Given the description of an element on the screen output the (x, y) to click on. 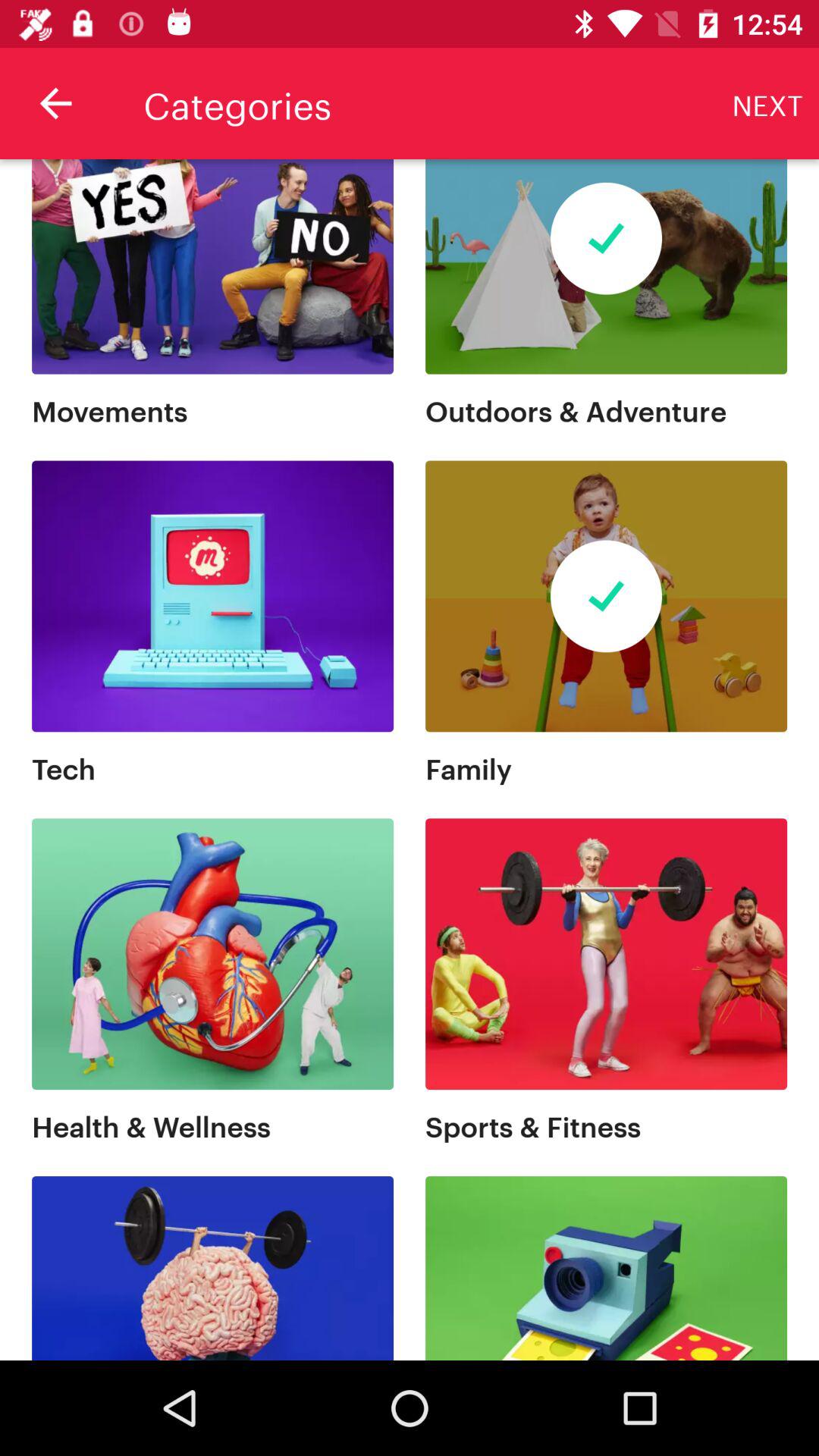
turn off the item next to categories (55, 103)
